Given the description of an element on the screen output the (x, y) to click on. 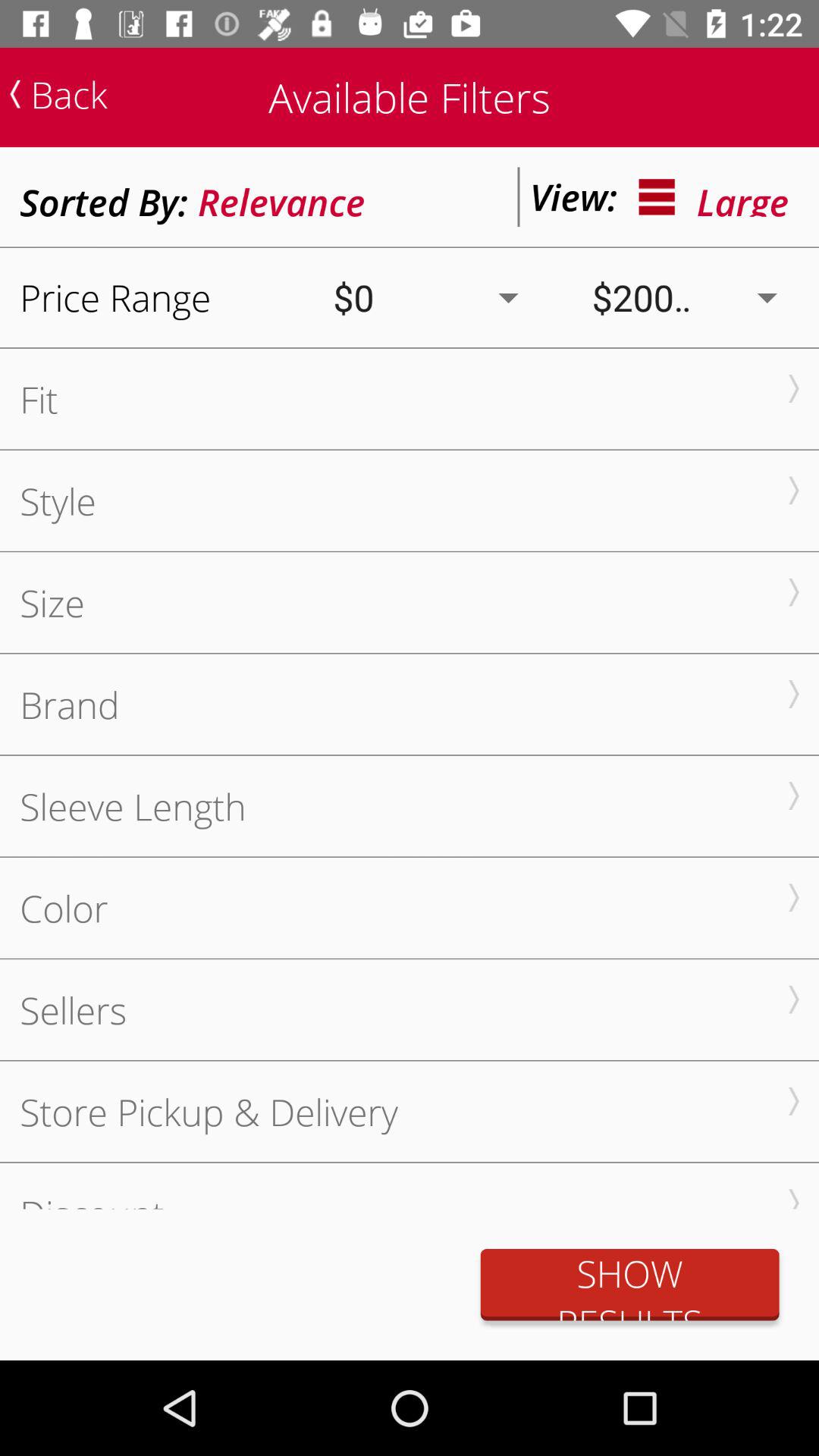
scroll to the show results (629, 1284)
